Given the description of an element on the screen output the (x, y) to click on. 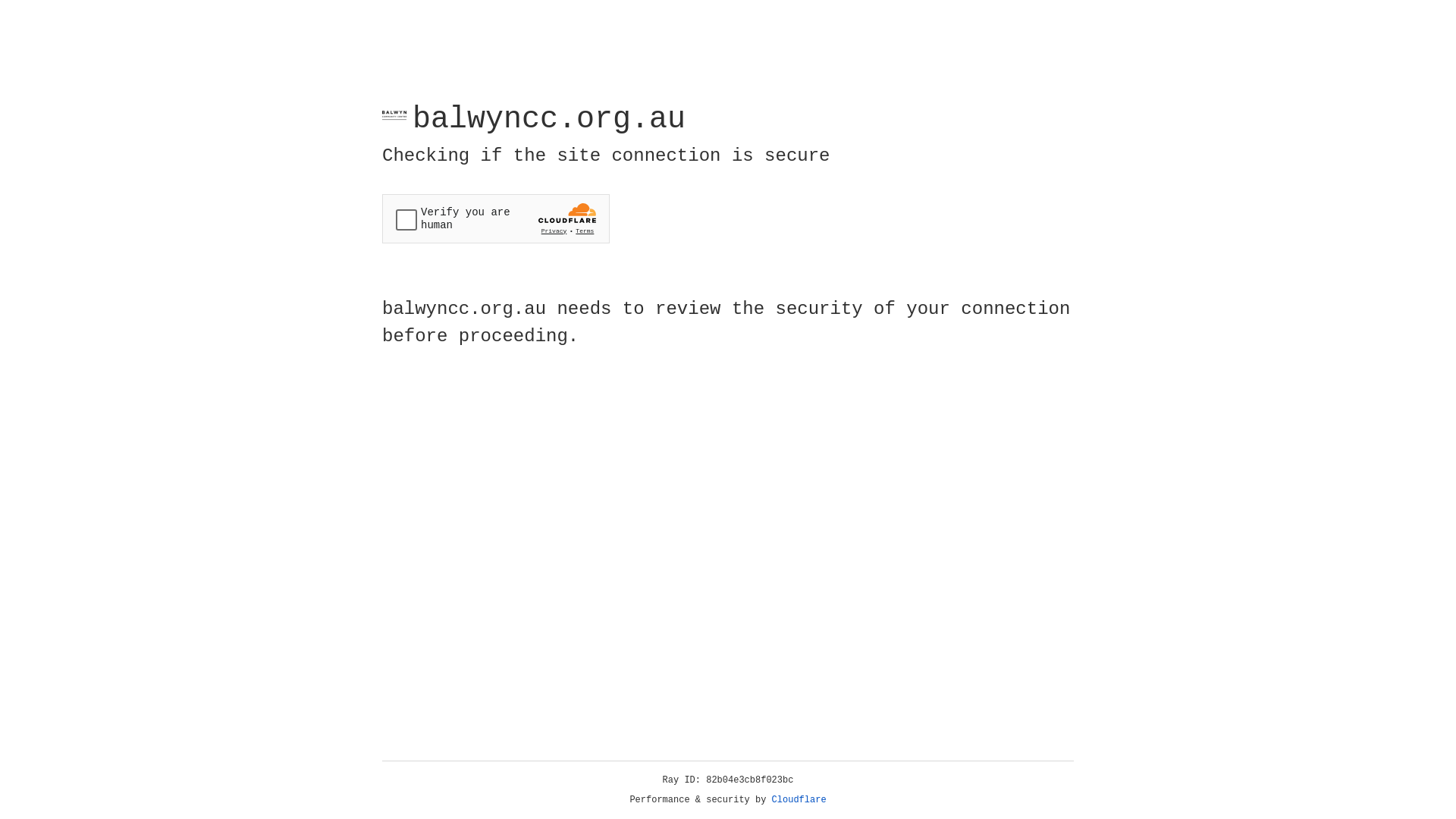
Widget containing a Cloudflare security challenge Element type: hover (495, 218)
Cloudflare Element type: text (798, 799)
